Given the description of an element on the screen output the (x, y) to click on. 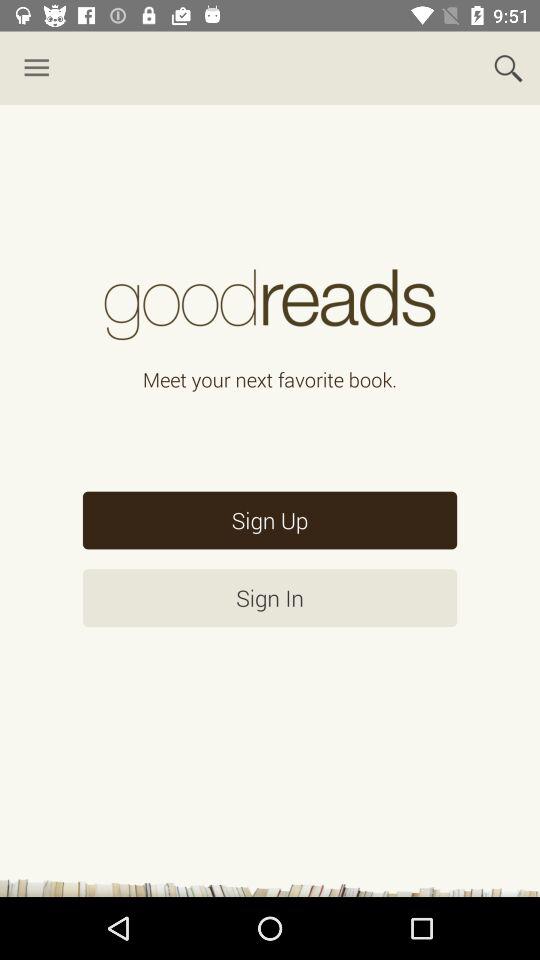
turn on the item below the sign up (269, 597)
